Given the description of an element on the screen output the (x, y) to click on. 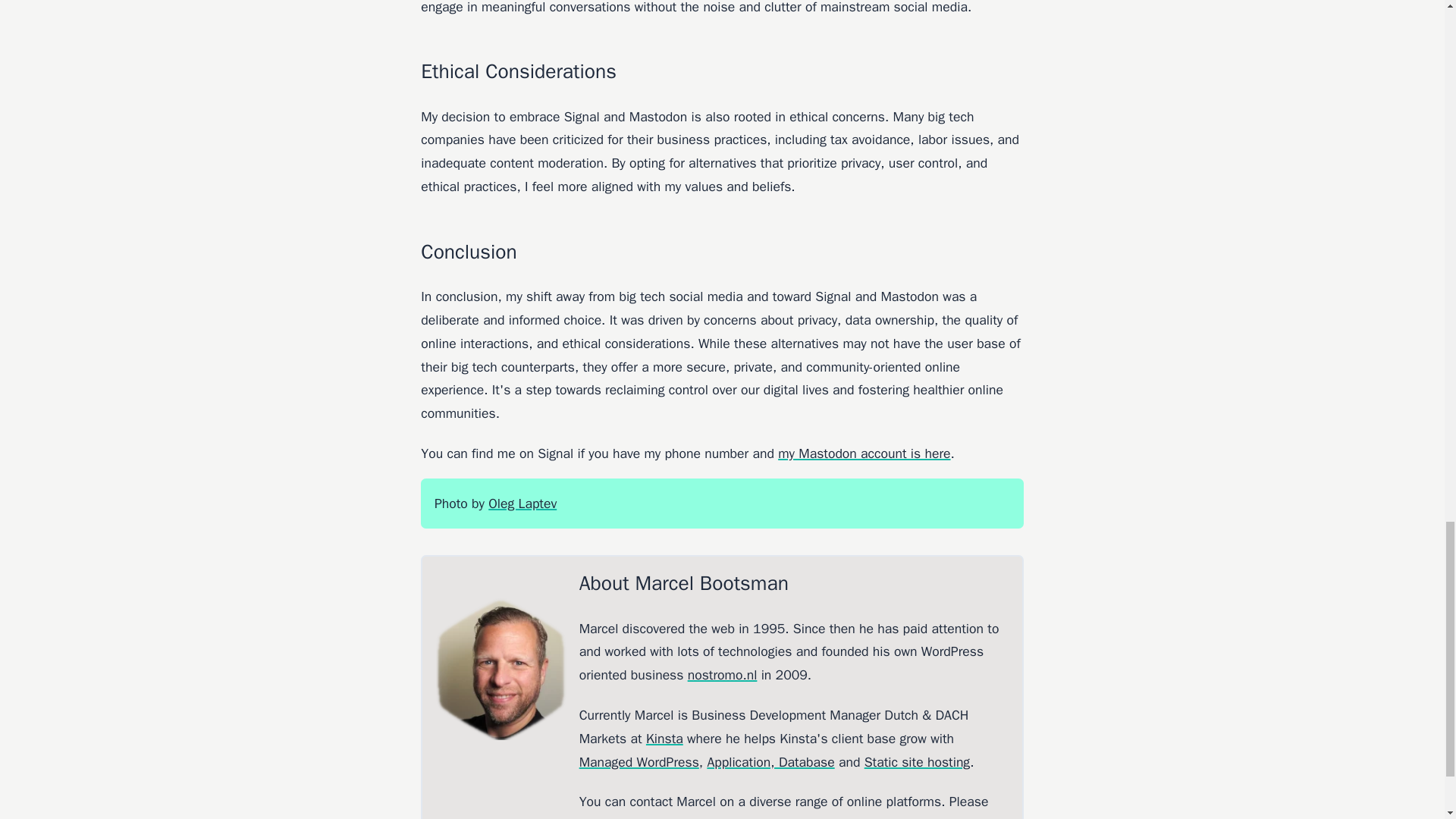
my Mastodon account is here (863, 453)
Static site hosting (916, 761)
Oleg Laptev (521, 503)
Managed WordPress (638, 761)
nostromo.nl (722, 674)
homepage (796, 817)
Application, Database (770, 761)
Kinsta (664, 738)
